Given the description of an element on the screen output the (x, y) to click on. 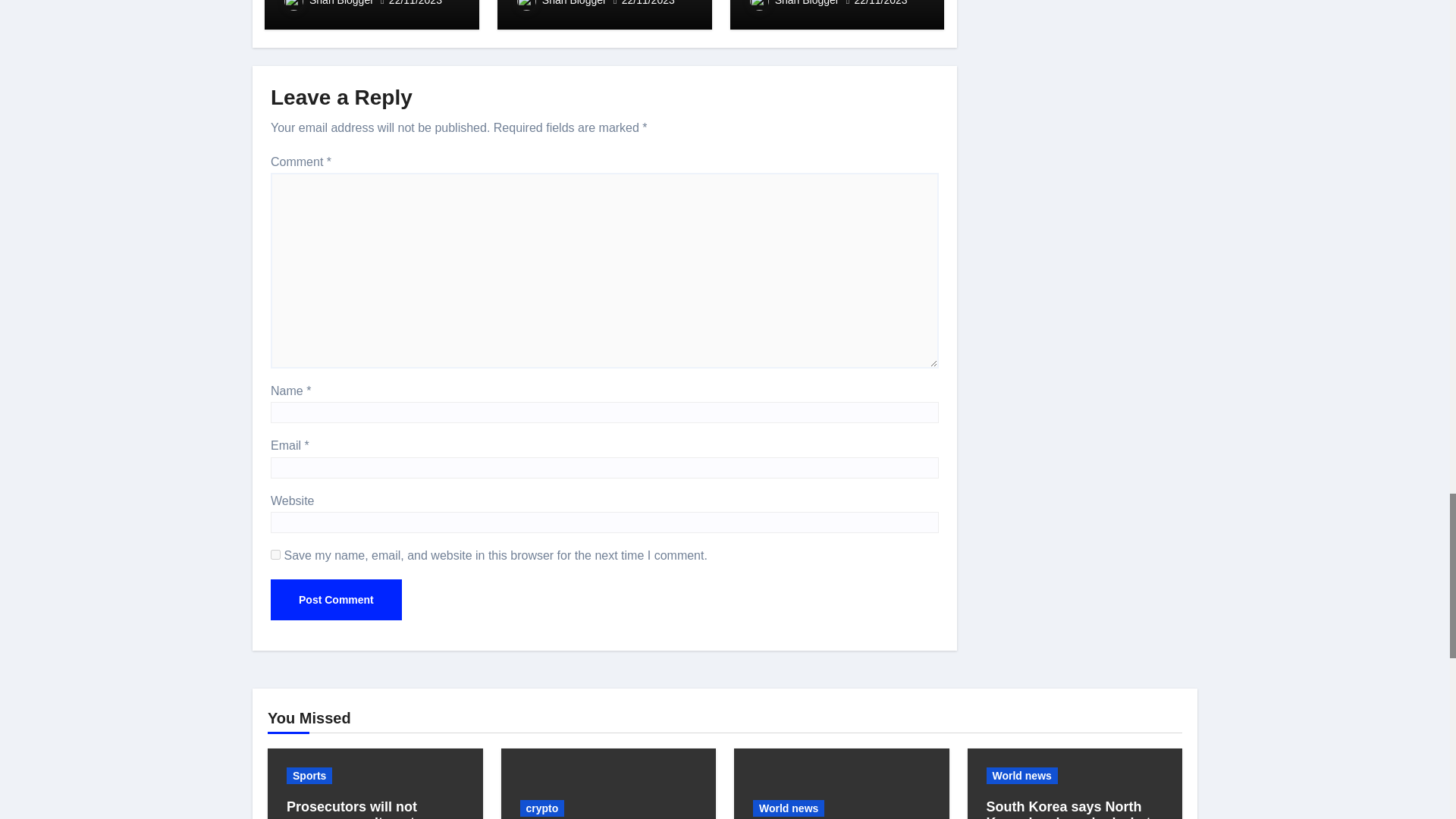
Post Comment (335, 599)
yes (275, 554)
